Given the description of an element on the screen output the (x, y) to click on. 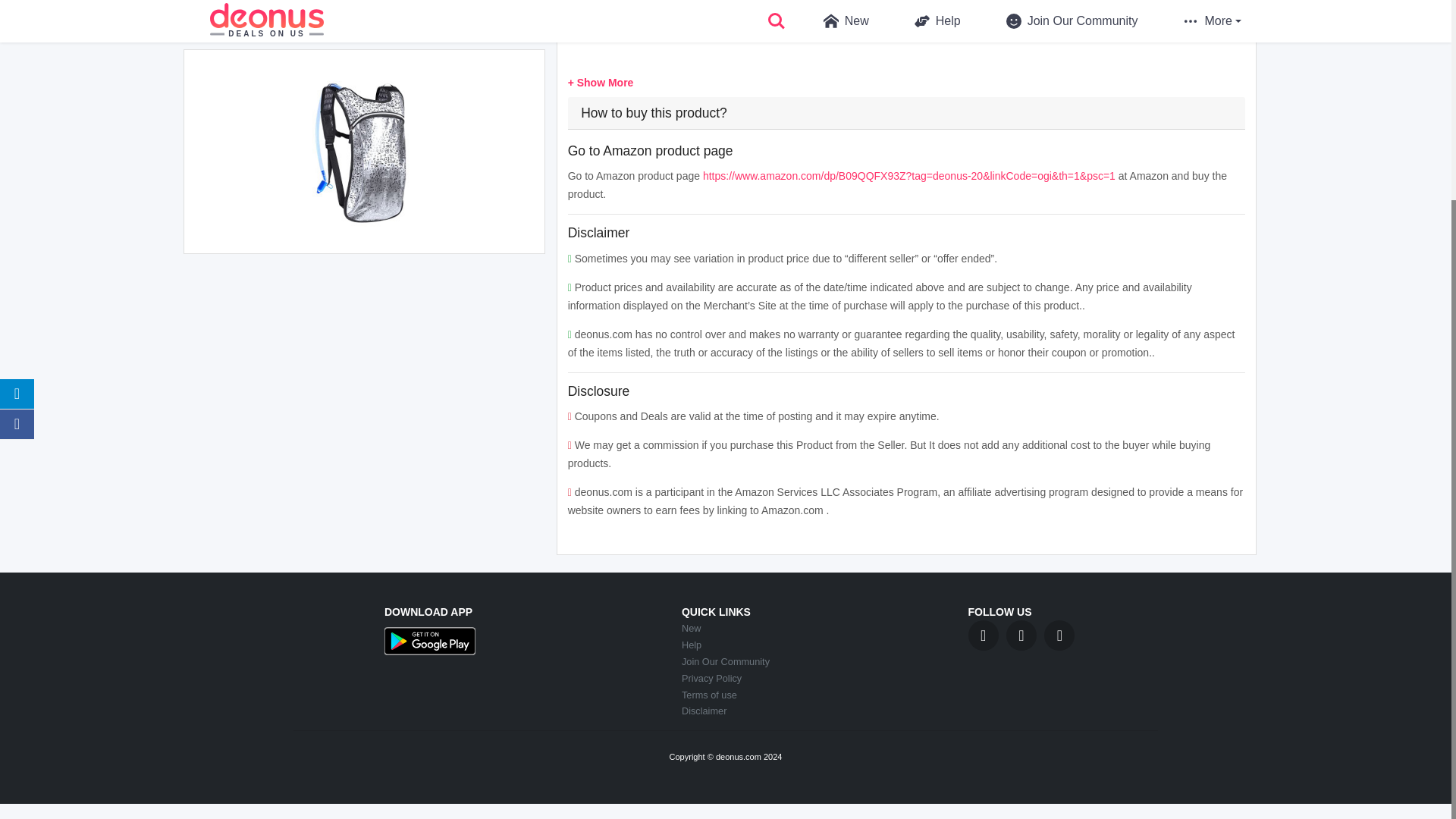
Get Deal (905, 10)
